Given the description of an element on the screen output the (x, y) to click on. 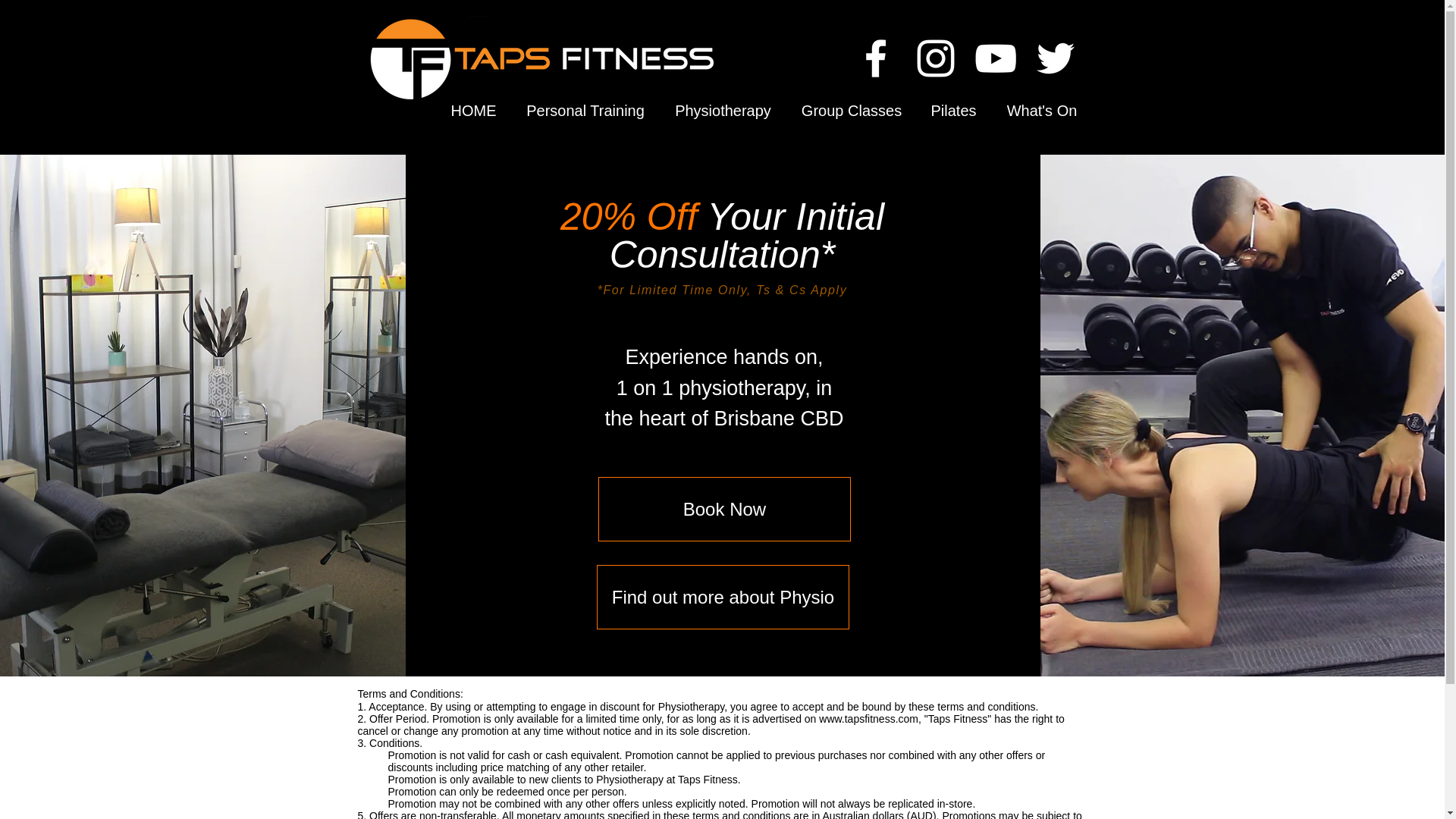
www.tapsfitness.com (868, 718)
Find out more about Physio (722, 597)
Physiotherapy (723, 110)
Book Now (724, 508)
What's On (1041, 110)
Group Classes (852, 110)
Pilates (952, 110)
Personal Training (585, 110)
HOME (473, 110)
